Given the description of an element on the screen output the (x, y) to click on. 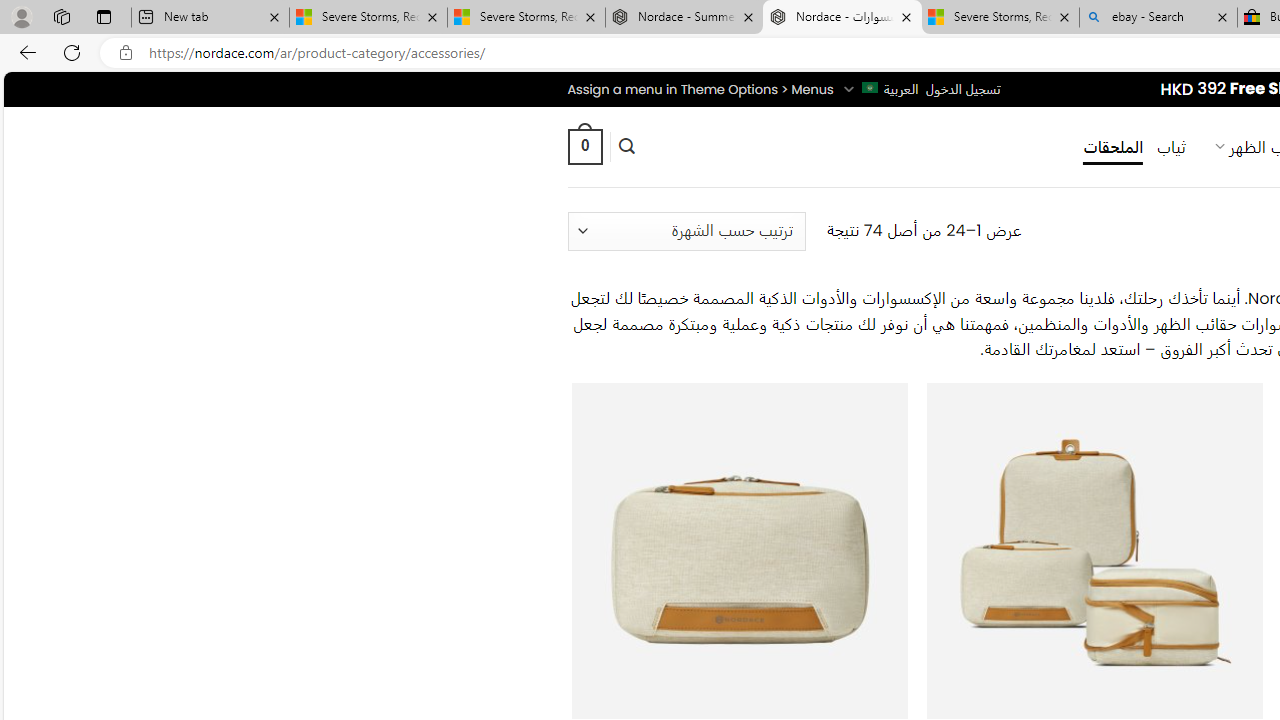
Personal Profile (21, 16)
 0  (584, 146)
Assign a menu in Theme Options > Menus (700, 89)
Close tab (1222, 16)
ebay - Search (1158, 17)
